Given the description of an element on the screen output the (x, y) to click on. 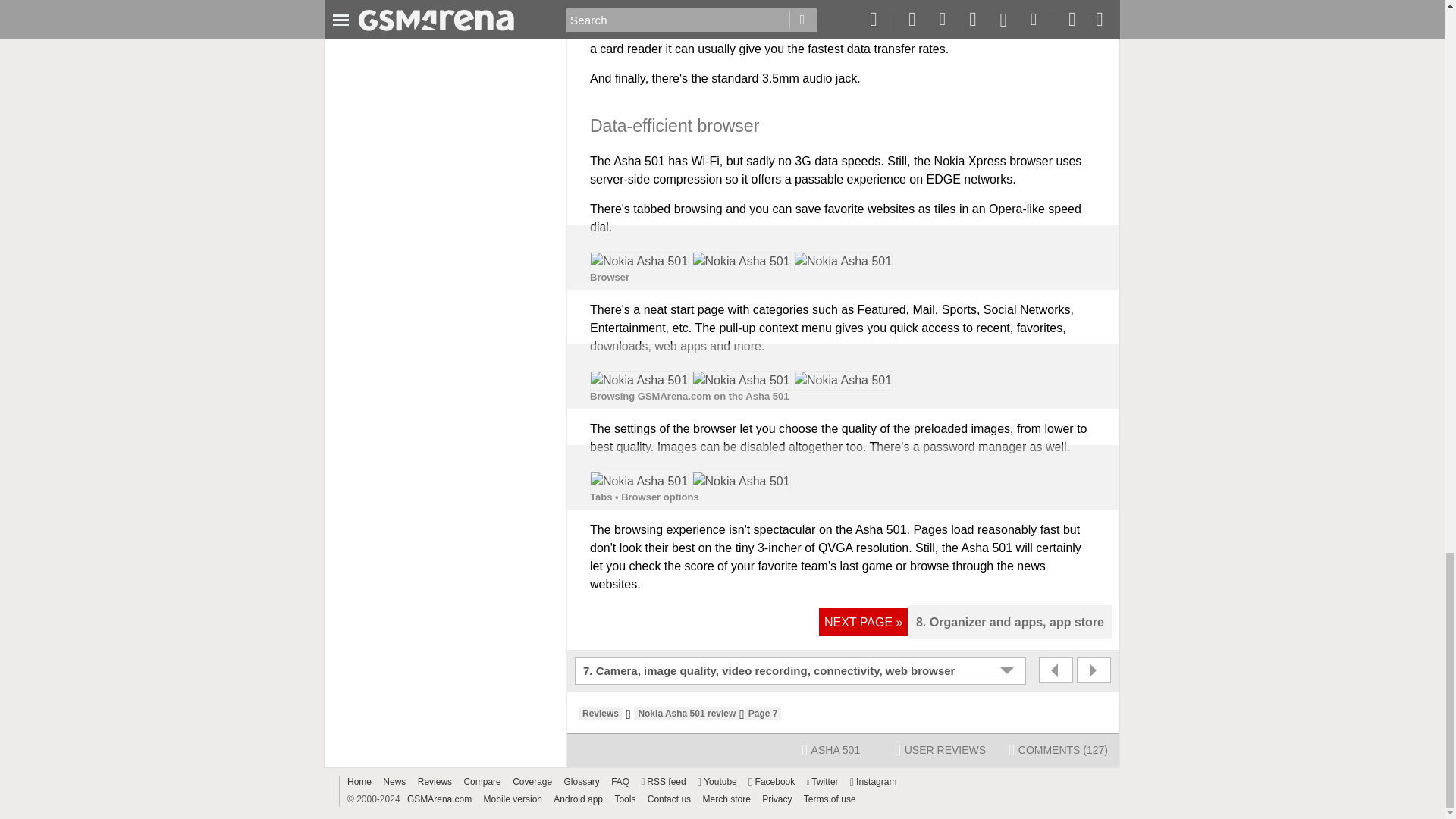
Previous page (1056, 670)
Next page (1093, 670)
